Given the description of an element on the screen output the (x, y) to click on. 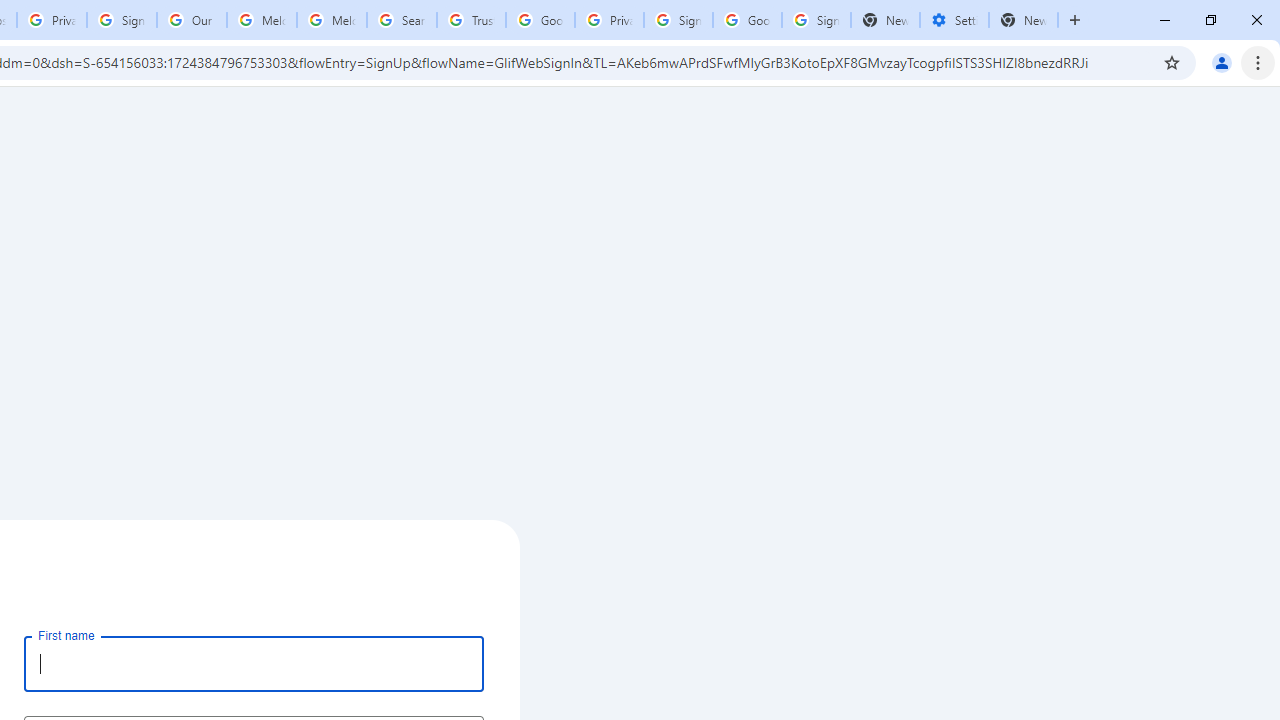
Search our Doodle Library Collection - Google Doodles (401, 20)
Google Ads - Sign in (539, 20)
Google Cybersecurity Innovations - Google Safety Center (747, 20)
Sign in - Google Accounts (677, 20)
